Given the description of an element on the screen output the (x, y) to click on. 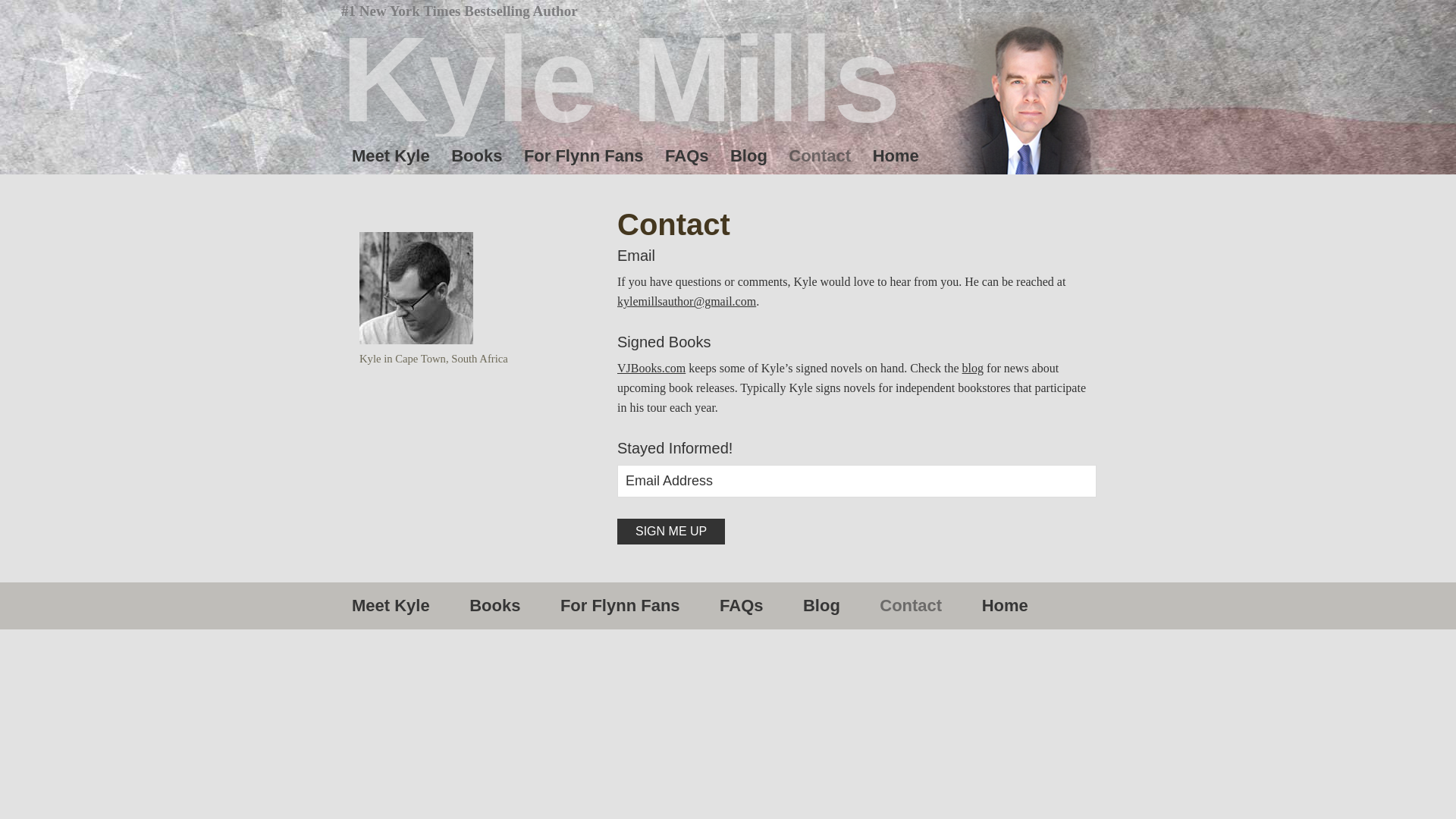
Books (494, 605)
For Flynn Fans (583, 156)
Meet Kyle (389, 156)
FAQs (740, 605)
Sign Me Up (671, 531)
VJBooks.com (651, 367)
Blog (748, 156)
FAQs (686, 156)
Meet Kyle (394, 605)
Blog (821, 605)
Kyle Mills (620, 79)
Home (895, 156)
For Flynn Fans (619, 605)
Contact (910, 605)
Sign Me Up (671, 531)
